Given the description of an element on the screen output the (x, y) to click on. 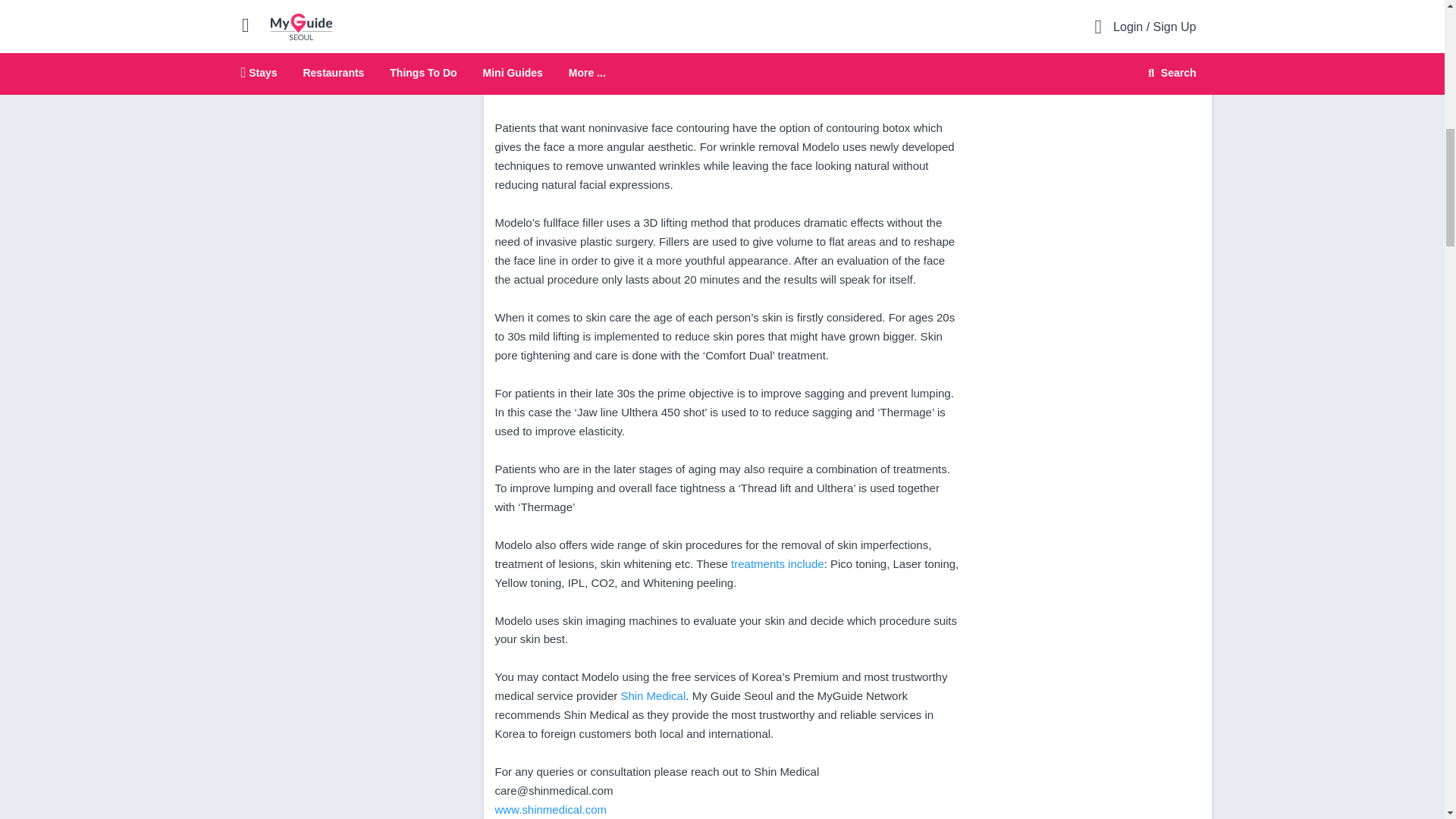
A JS library for interactive maps (1182, 25)
treatments include (777, 563)
Shin Medical (652, 695)
www.shinmedical.com (551, 809)
